Given the description of an element on the screen output the (x, y) to click on. 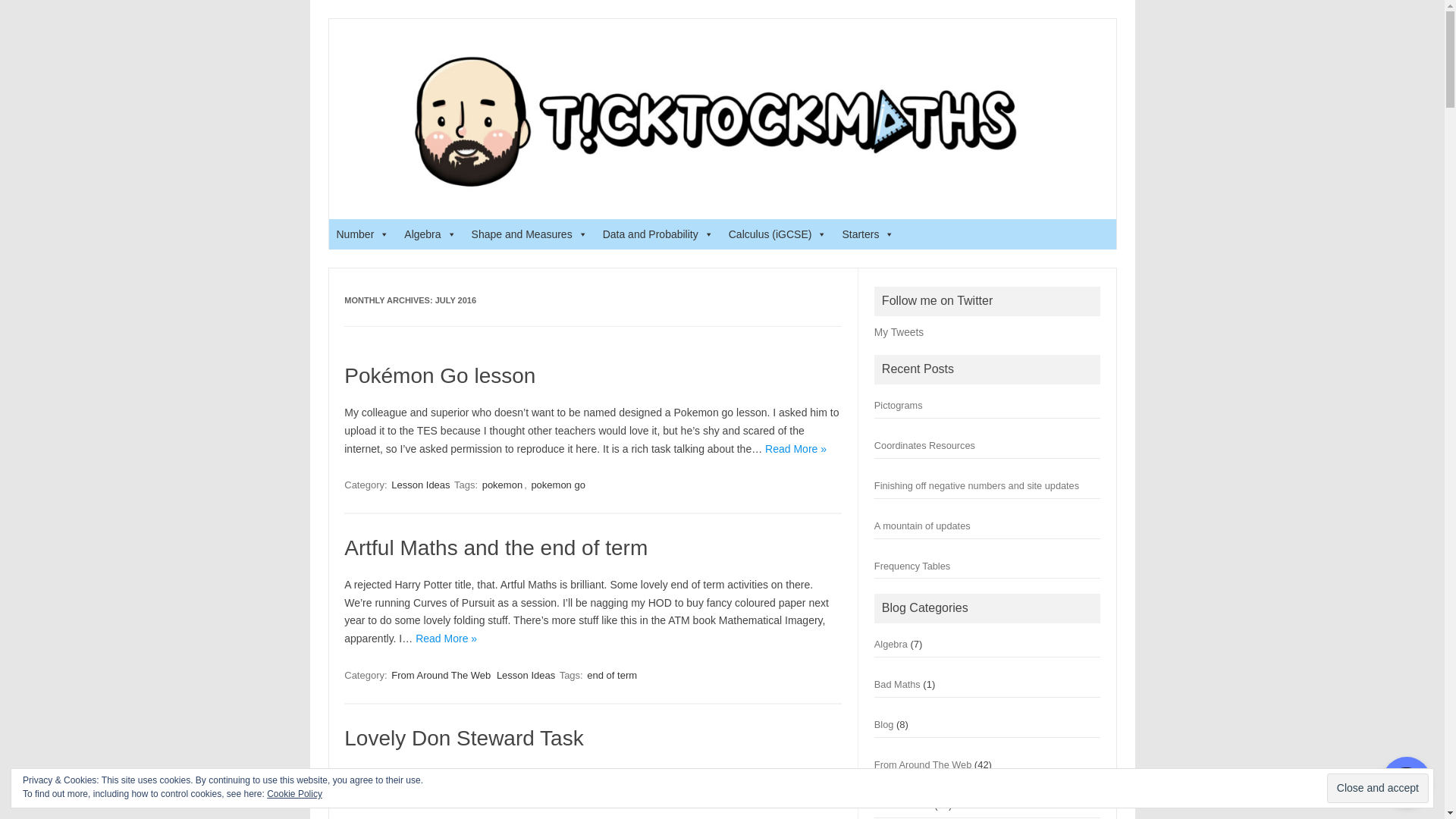
Permalink to Lovely Don Steward Task (463, 738)
Close and accept (1377, 788)
Number (363, 234)
TickTockMaths (721, 193)
Permalink to Artful Maths and the end of term (495, 547)
